Given the description of an element on the screen output the (x, y) to click on. 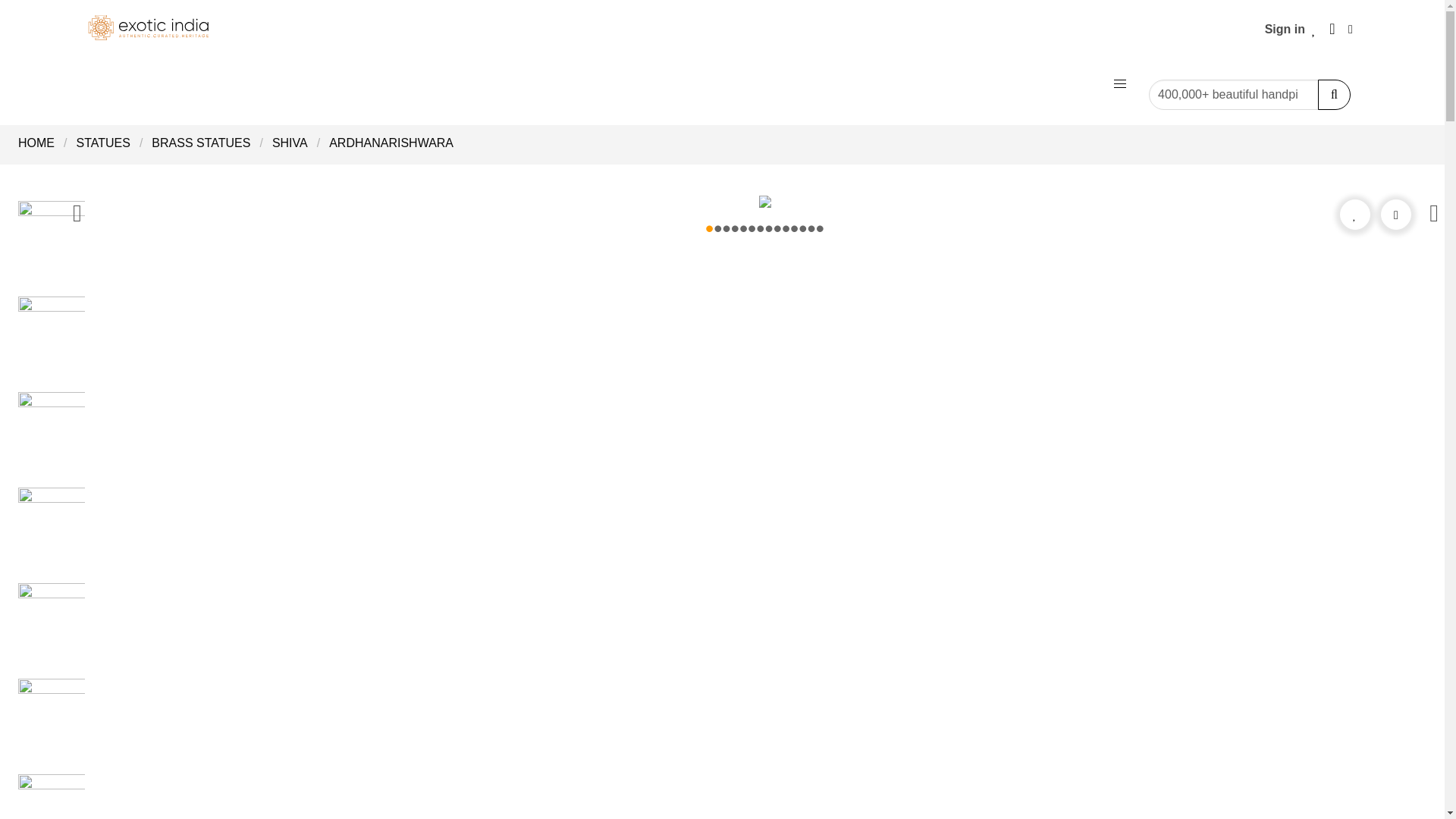
STATUES (102, 143)
BRASS STATUES (200, 143)
Sign in (1284, 29)
Home (40, 143)
Brass Statues (200, 143)
Shiva (290, 143)
SHIVA (290, 143)
Sign in (1284, 29)
Wishlist (1313, 29)
